Given the description of an element on the screen output the (x, y) to click on. 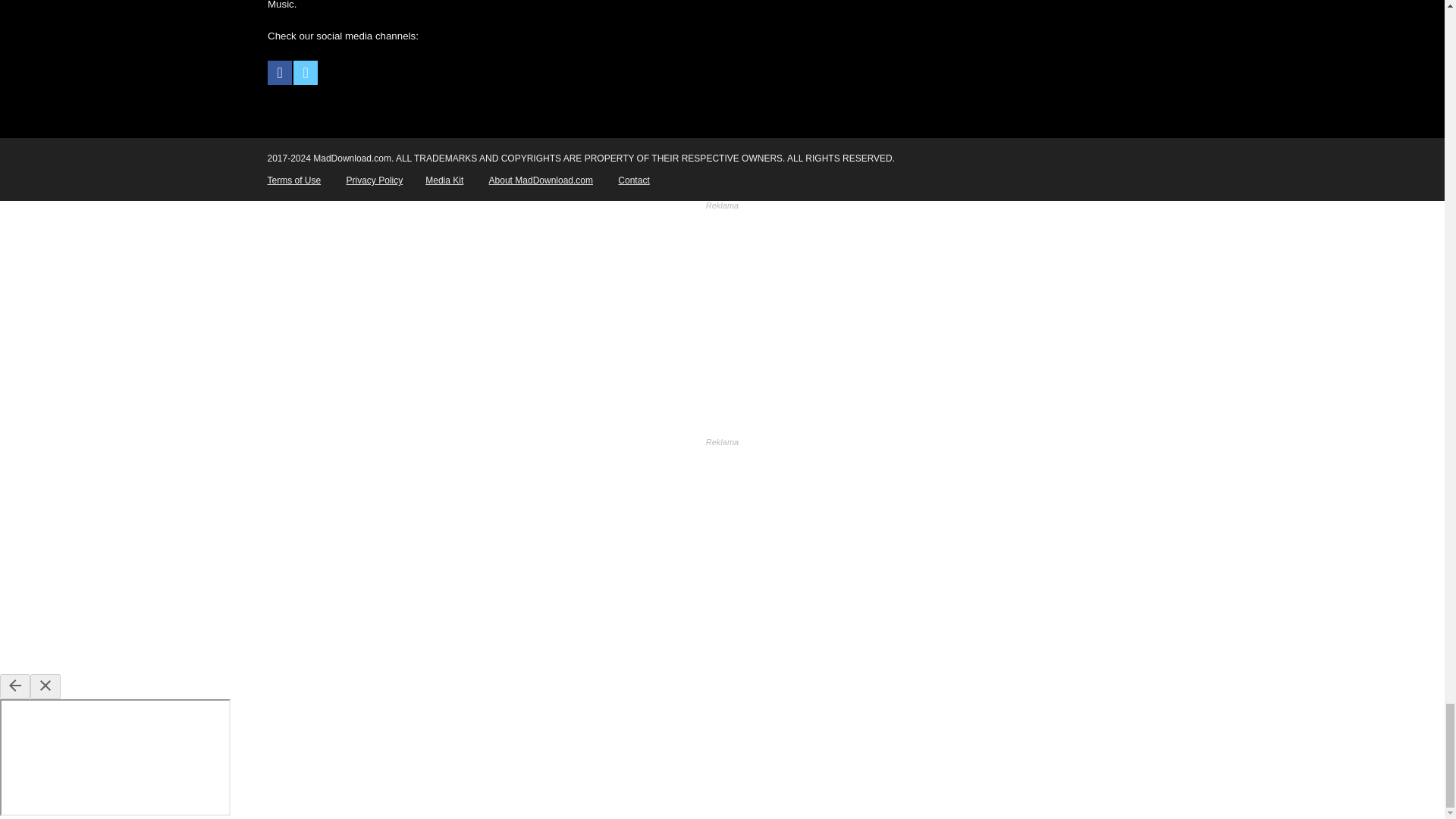
MadDownload Facebook Page (279, 72)
MadDownload Twitter Page (305, 72)
